Given the description of an element on the screen output the (x, y) to click on. 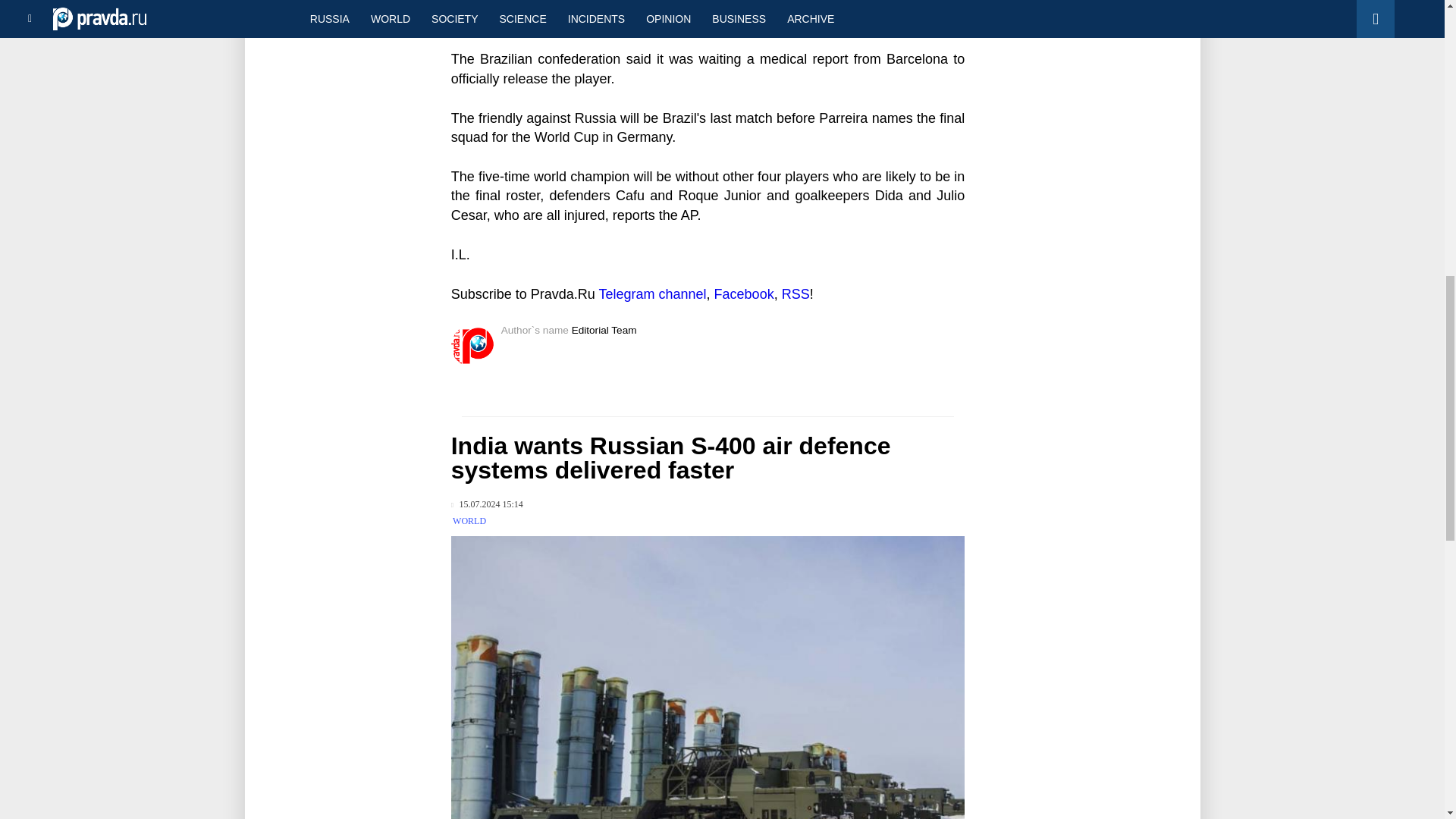
WORLD (469, 520)
RSS (795, 294)
Back to top (1418, 79)
Published (486, 504)
Facebook (744, 294)
Editorial Team (604, 329)
Telegram channel (652, 294)
